Given the description of an element on the screen output the (x, y) to click on. 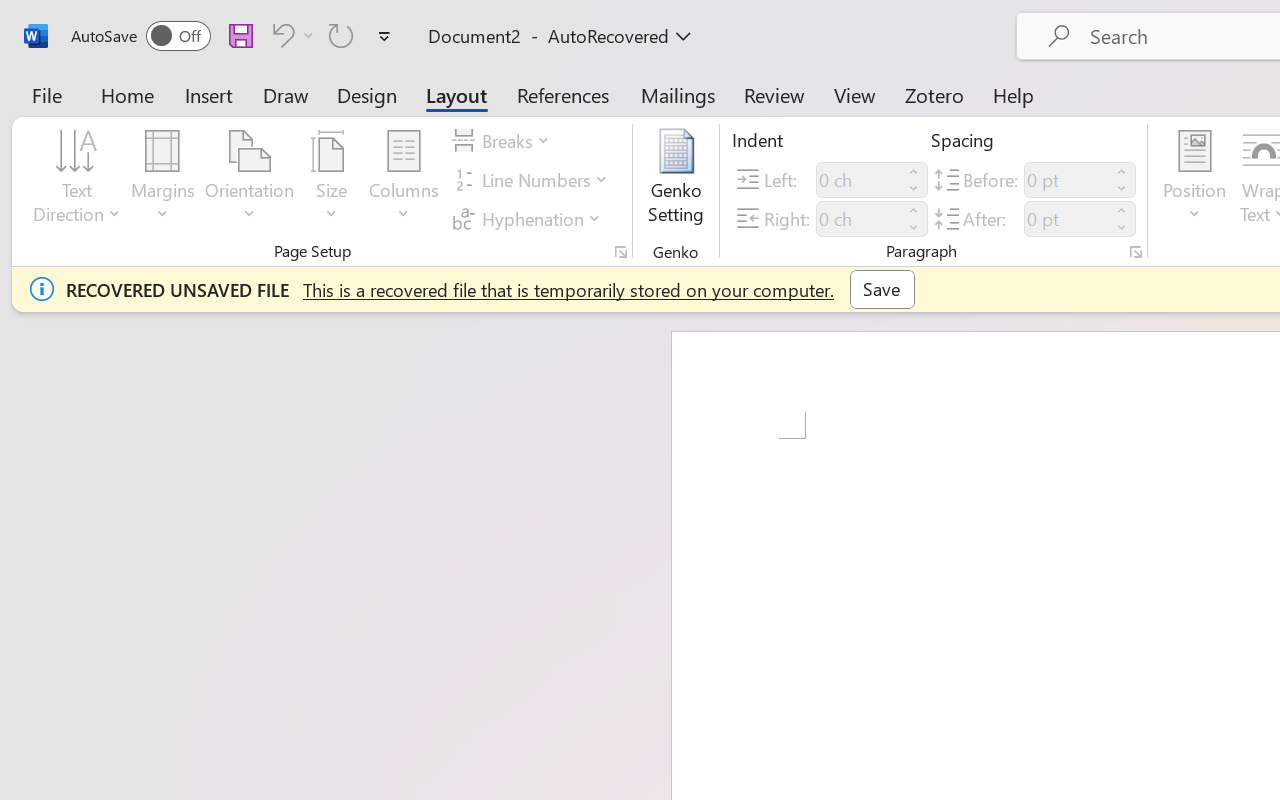
Margins (163, 179)
Spacing After (1066, 218)
Help (1013, 94)
Text Direction (77, 179)
Size (331, 179)
Breaks (504, 141)
Can't Repeat (341, 35)
Position (1194, 179)
Paragraph... (1135, 252)
Columns (404, 179)
